Given the description of an element on the screen output the (x, y) to click on. 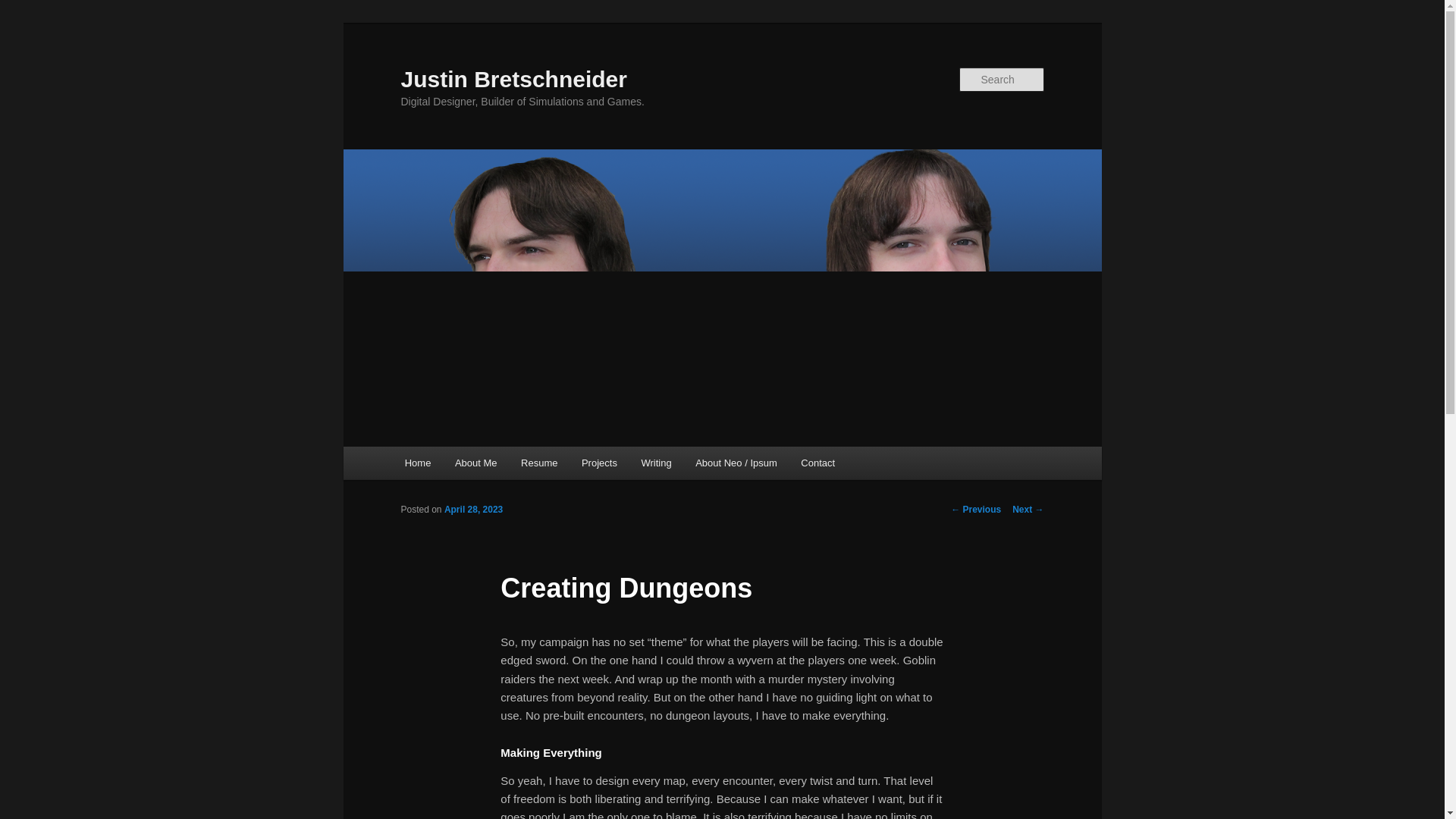
Justin Bretschneider (513, 78)
Contact (818, 462)
Writing (656, 462)
About Me (475, 462)
April 28, 2023 (473, 509)
2:02 pm (473, 509)
Search (24, 8)
Resume (538, 462)
Projects (598, 462)
Home (417, 462)
